Given the description of an element on the screen output the (x, y) to click on. 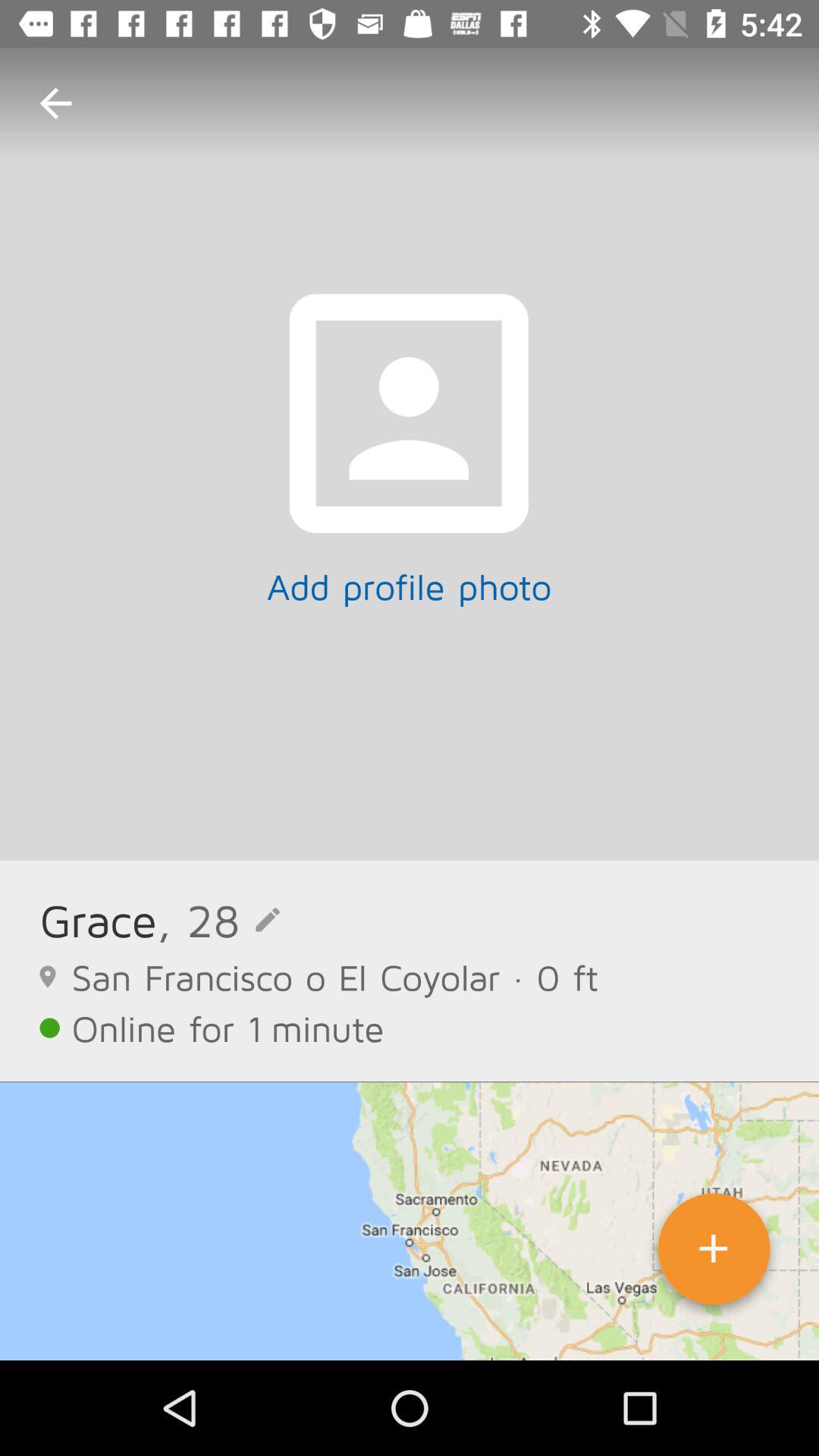
select icon above the san francisco o icon (217, 919)
